Given the description of an element on the screen output the (x, y) to click on. 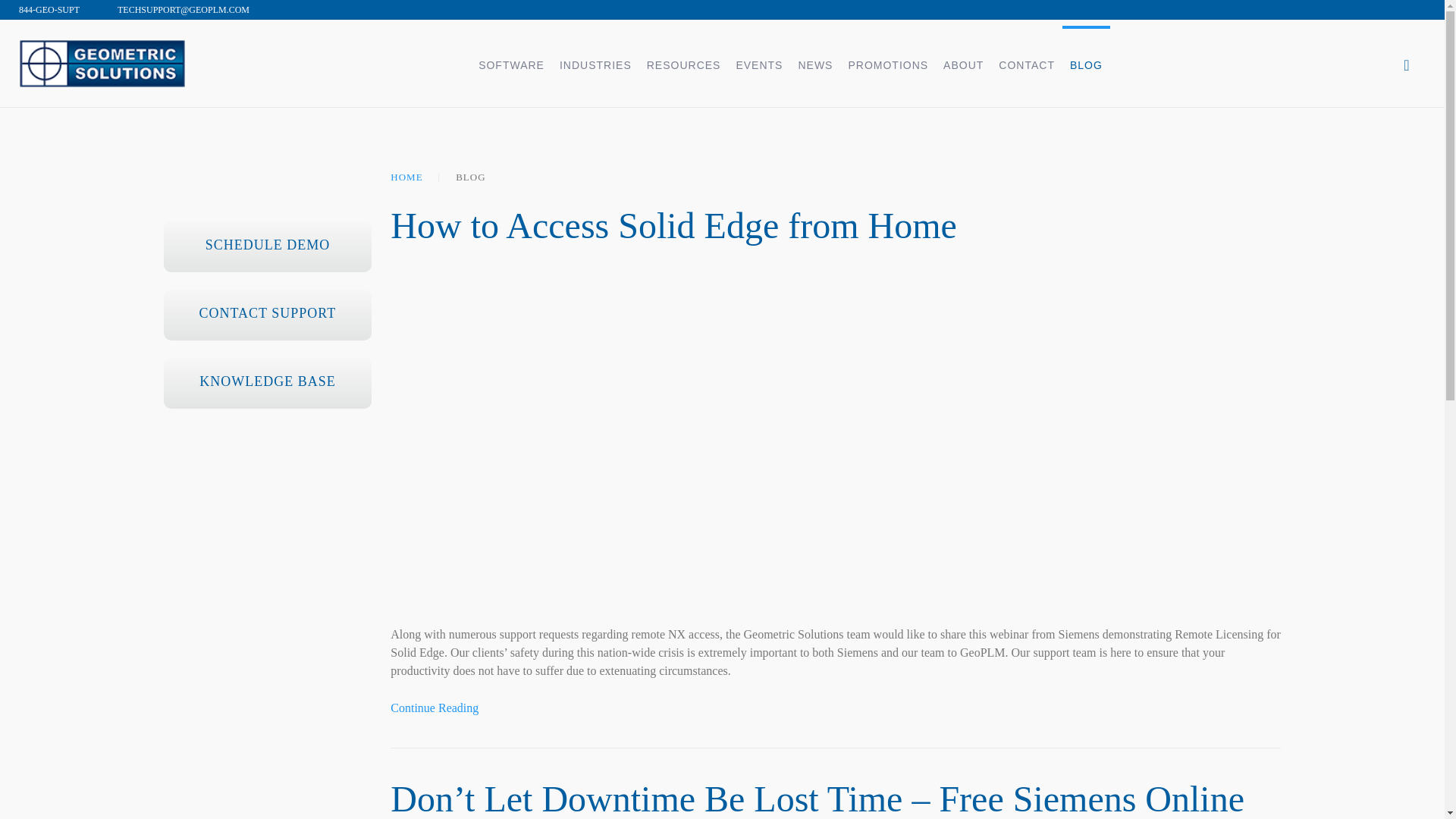
How to Access Solid Edge from Home (673, 225)
RESOURCES (684, 63)
INDUSTRIES (595, 63)
844-GEO-SUPT (49, 9)
How to Access Solid Edge from Home (434, 707)
SOFTWARE (510, 63)
